Given the description of an element on the screen output the (x, y) to click on. 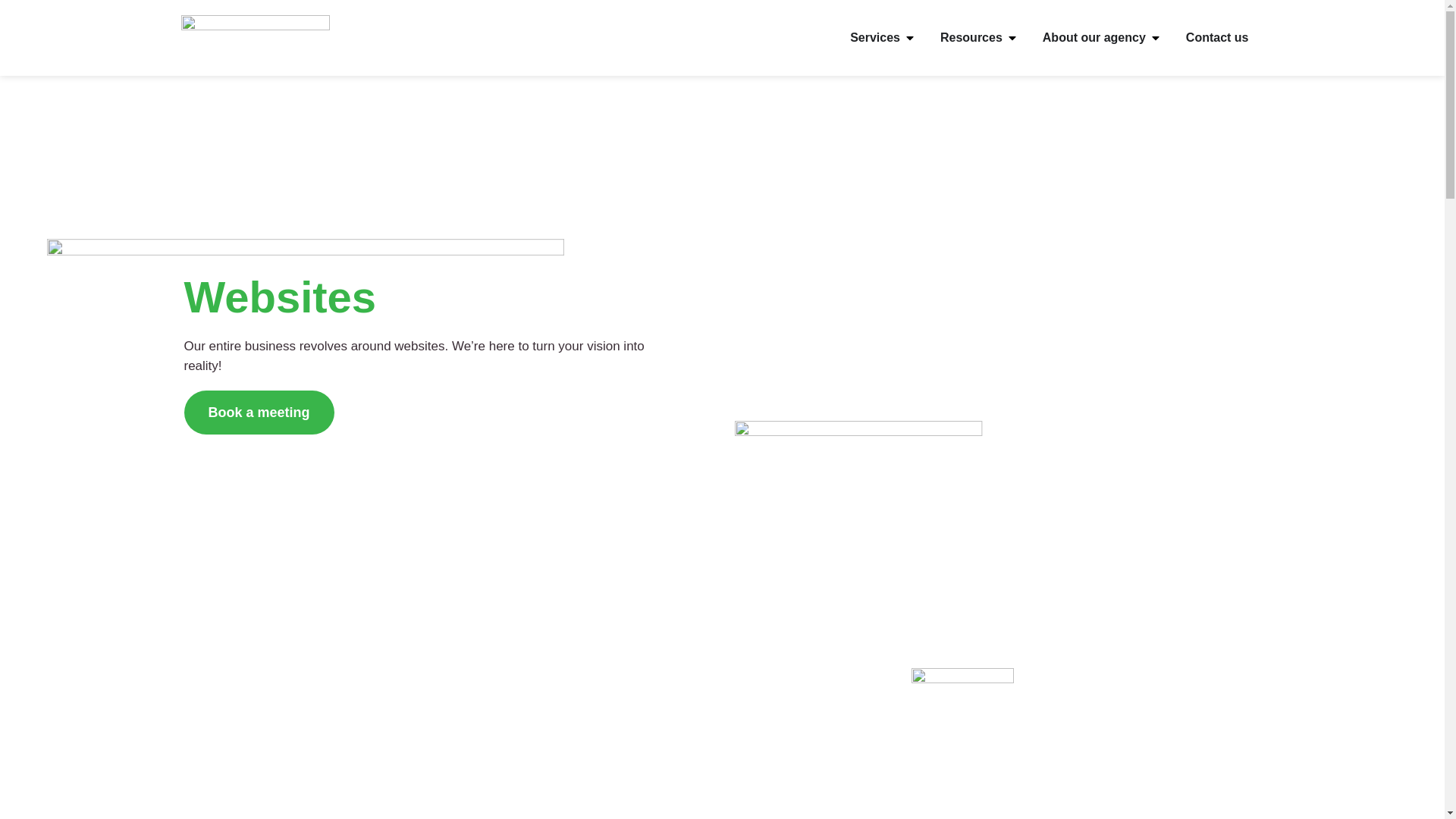
Resources Element type: text (971, 37)
Contact us Element type: text (1217, 37)
Services Element type: text (875, 37)
About our agency Element type: text (1093, 37)
Book a meeting Element type: text (258, 412)
